Given the description of an element on the screen output the (x, y) to click on. 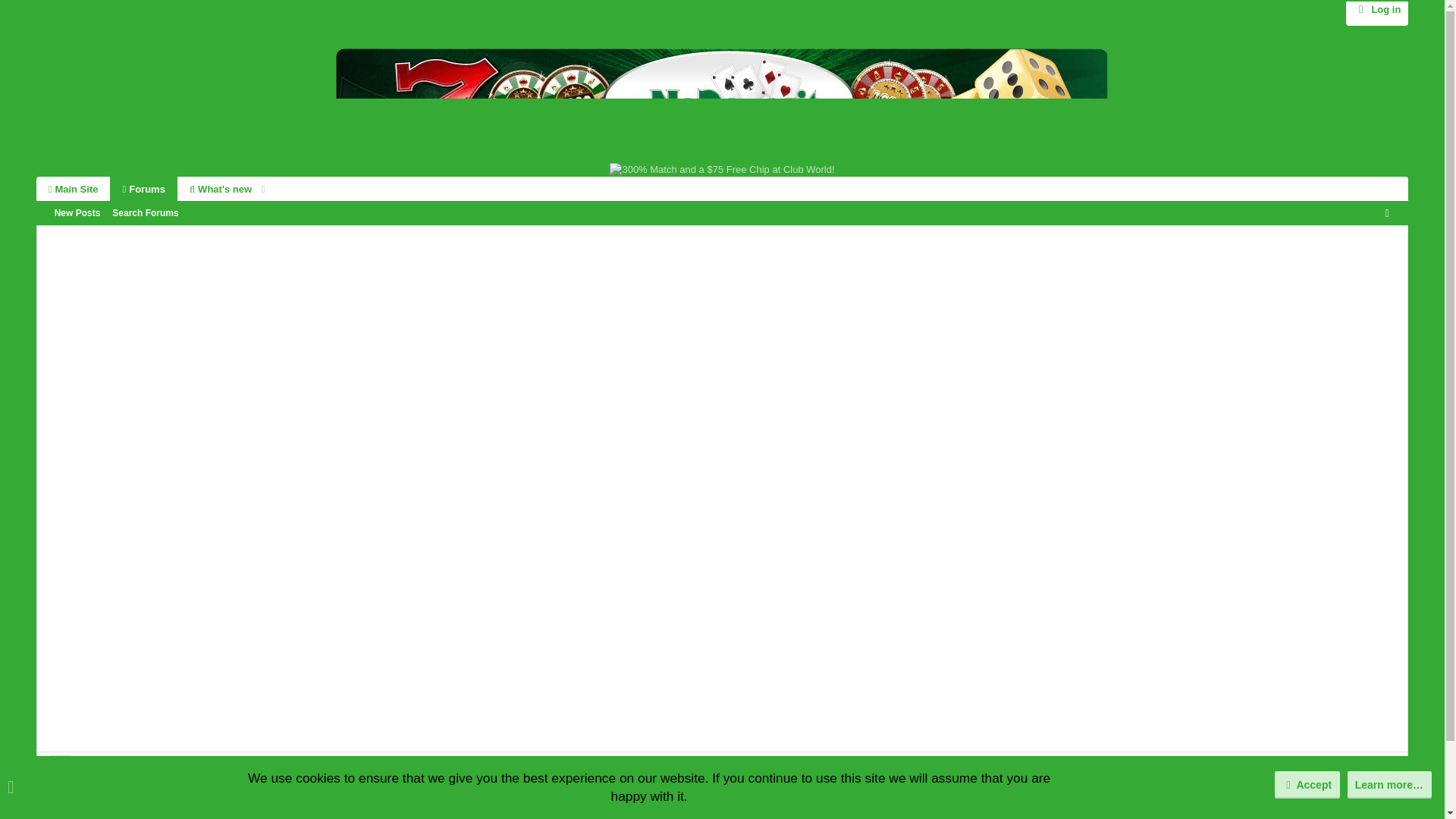
Log in (1376, 9)
Main Site (73, 188)
Search Forums (116, 213)
New Posts (145, 213)
What's new (154, 188)
Forums (77, 213)
